Given the description of an element on the screen output the (x, y) to click on. 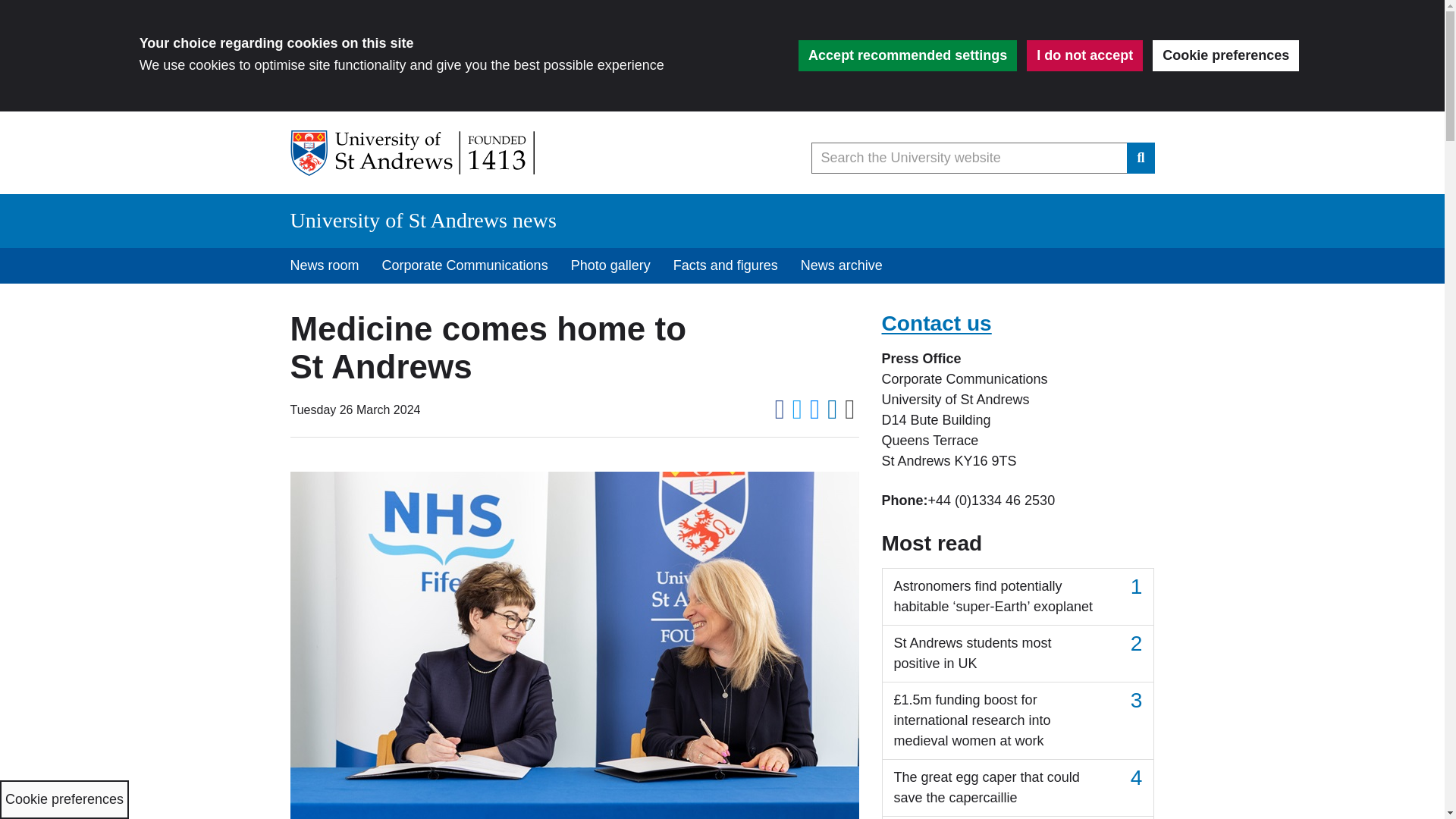
Corporate Communications (465, 265)
News archive (841, 265)
University of St Andrews news (422, 219)
Accept recommended settings (906, 55)
Photo gallery (610, 265)
I do not accept (1084, 55)
News room (325, 265)
Cookie preferences (1225, 55)
Facts and figures (725, 265)
